Given the description of an element on the screen output the (x, y) to click on. 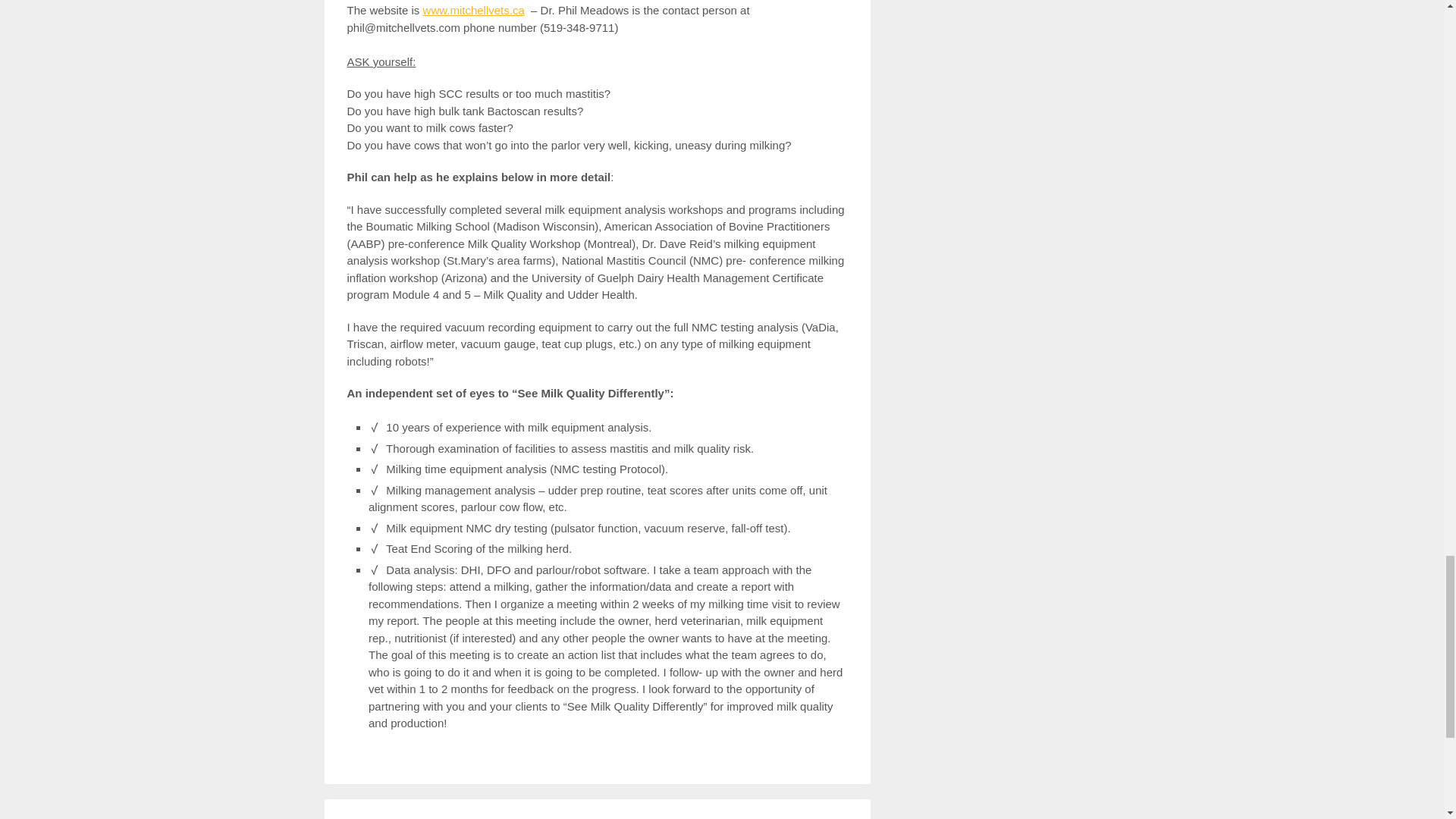
www.mitchellvets.ca (473, 10)
